Given the description of an element on the screen output the (x, y) to click on. 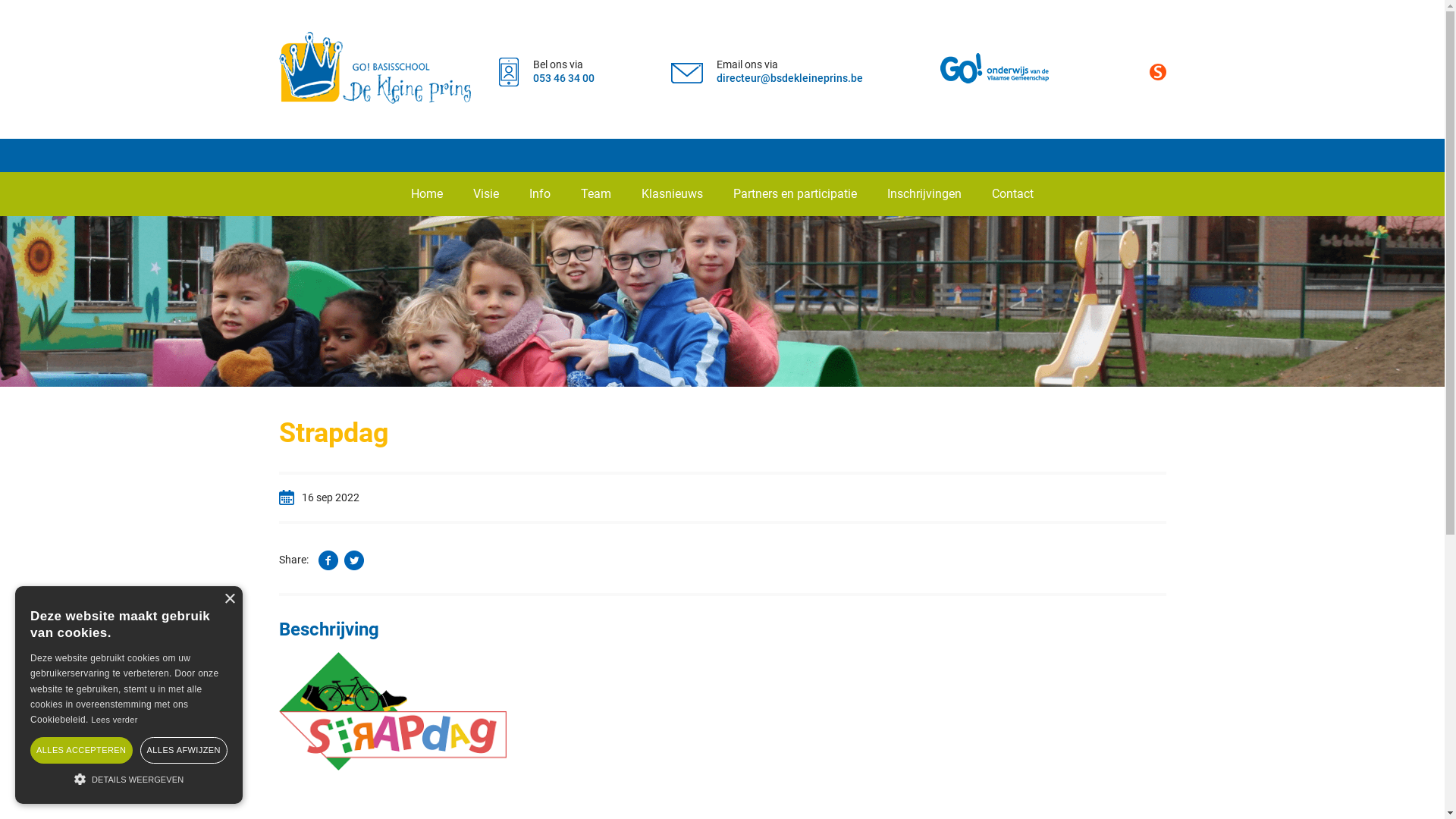
Klasnieuws Element type: text (671, 194)
Info Element type: text (539, 194)
053 46 34 00 Element type: text (562, 78)
Contact Element type: text (1012, 194)
Home Element type: text (426, 194)
Lees verder Element type: text (114, 719)
Deel op Facebook Element type: text (328, 560)
Deel op Twitter Element type: text (354, 560)
Visie Element type: text (485, 194)
directeur@bsdekleineprins.be Element type: text (789, 78)
Inschrijvingen Element type: text (924, 194)
Team Element type: text (595, 194)
fb:like Facebook Social Plugin Element type: hover (1128, 553)
Partners en participatie Element type: text (794, 194)
